Given the description of an element on the screen output the (x, y) to click on. 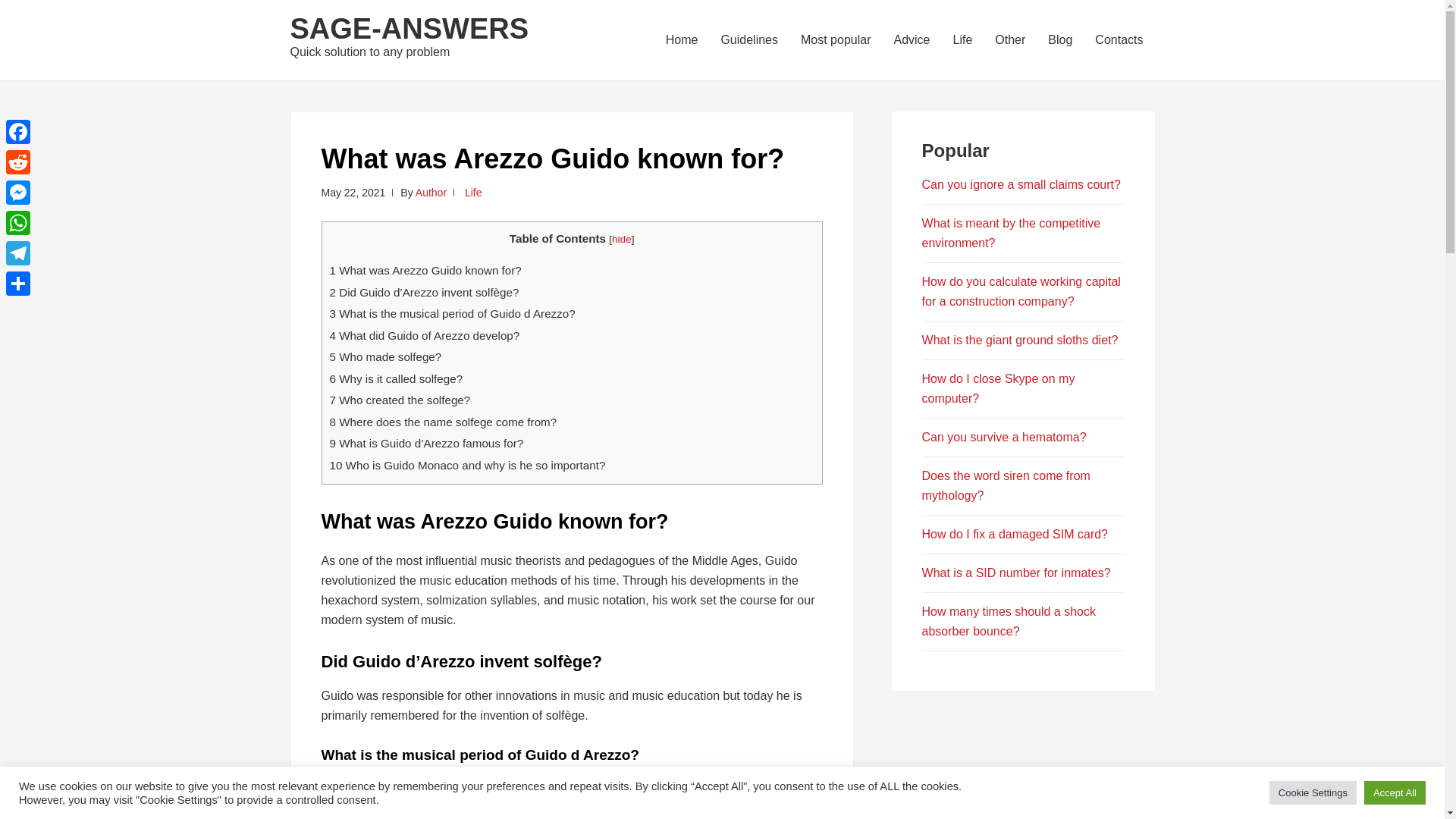
4 What did Guido of Arezzo develop? (424, 335)
Reddit (17, 162)
View all posts by Author (430, 192)
7 Who created the solfege? (399, 399)
Guidelines (749, 39)
Other (1010, 39)
What is a SID number for inmates? (1015, 572)
Advice (911, 39)
What is meant by the competitive environment? (1010, 233)
Does the word siren come from mythology? (1005, 485)
1 What was Arezzo Guido known for? (425, 269)
Home (681, 39)
6 Why is it called solfege? (396, 378)
How do I close Skype on my computer? (998, 388)
